Given the description of an element on the screen output the (x, y) to click on. 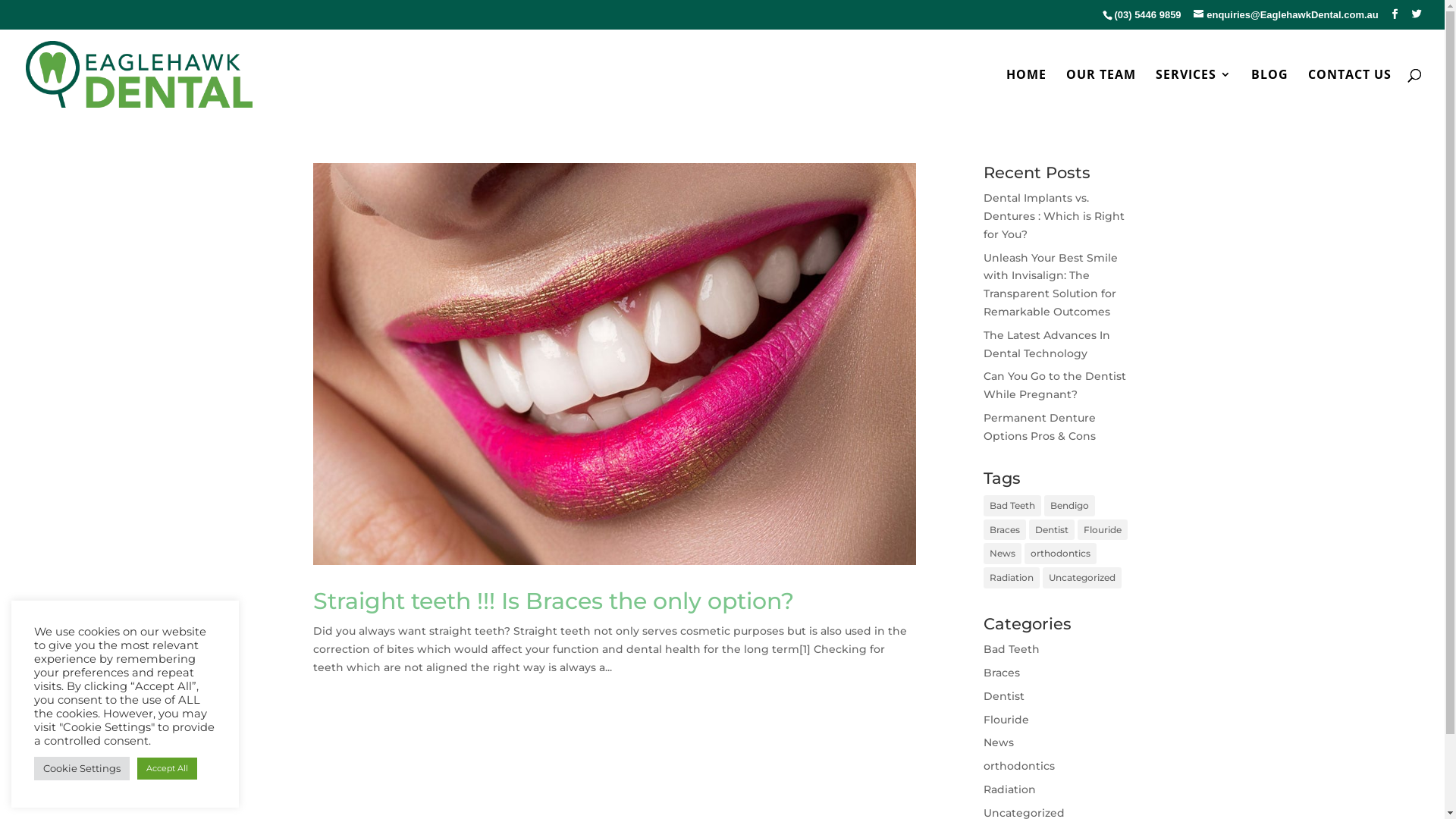
Bad Teeth Element type: text (1012, 505)
Can You Go to the Dentist While Pregnant? Element type: text (1054, 385)
(03) 5446 9859 Element type: text (1146, 14)
The Latest Advances In Dental Technology Element type: text (1046, 344)
Flouride Element type: text (1006, 719)
Bad Teeth Element type: text (1011, 648)
Bendigo Element type: text (1069, 505)
HOME Element type: text (1026, 94)
Dentist Element type: text (1003, 695)
News Element type: text (998, 742)
Dental Implants vs. Dentures : Which is Right for You? Element type: text (1053, 216)
Straight teeth !!! Is Braces the only option? Element type: text (552, 600)
Flouride Element type: text (1102, 529)
Radiation Element type: text (1009, 789)
Braces Element type: text (1004, 529)
Cookie Settings Element type: text (81, 768)
BLOG Element type: text (1269, 94)
enquiries@EaglehawkDental.com.au Element type: text (1285, 14)
Accept All Element type: text (167, 768)
Radiation Element type: text (1011, 577)
CONTACT US Element type: text (1349, 94)
Braces Element type: text (1001, 672)
OUR TEAM Element type: text (1100, 94)
orthodontics Element type: text (1018, 765)
orthodontics Element type: text (1060, 553)
Uncategorized Element type: text (1081, 577)
SERVICES Element type: text (1193, 94)
News Element type: text (1002, 553)
Dentist Element type: text (1051, 529)
Skip to content Element type: text (0, 0)
Permanent Denture Options Pros & Cons Element type: text (1039, 426)
